Given the description of an element on the screen output the (x, y) to click on. 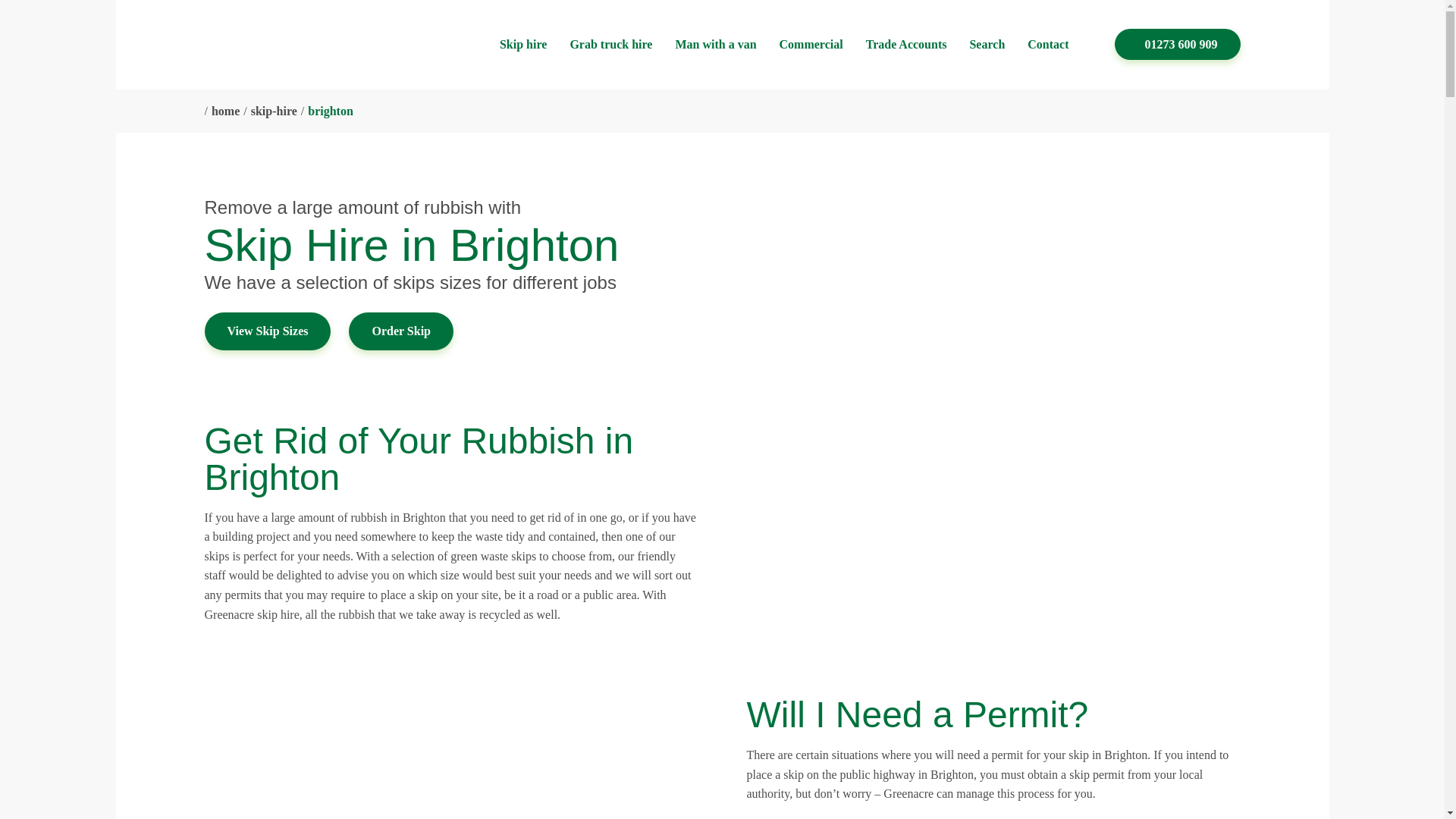
Skip hire (523, 44)
Trade Accounts (906, 44)
Order Skip (400, 331)
home (225, 111)
Man with a van (715, 44)
Grab truck hire (610, 44)
01273 600 909 (1177, 43)
skip-hire (274, 111)
brighton (330, 111)
Commercial (810, 44)
Contact (1047, 44)
Search (986, 44)
View Skip Sizes (268, 331)
